Given the description of an element on the screen output the (x, y) to click on. 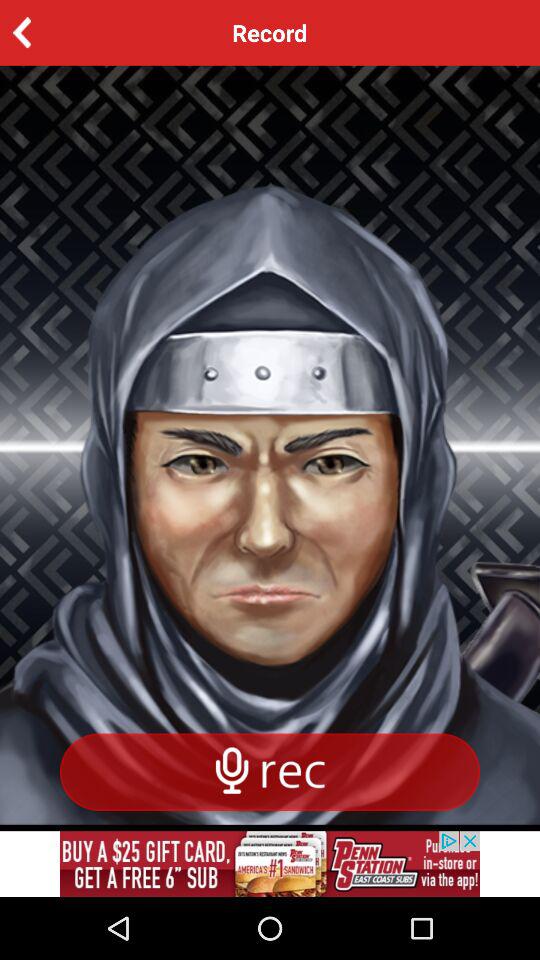
go to record (52, 32)
